Given the description of an element on the screen output the (x, y) to click on. 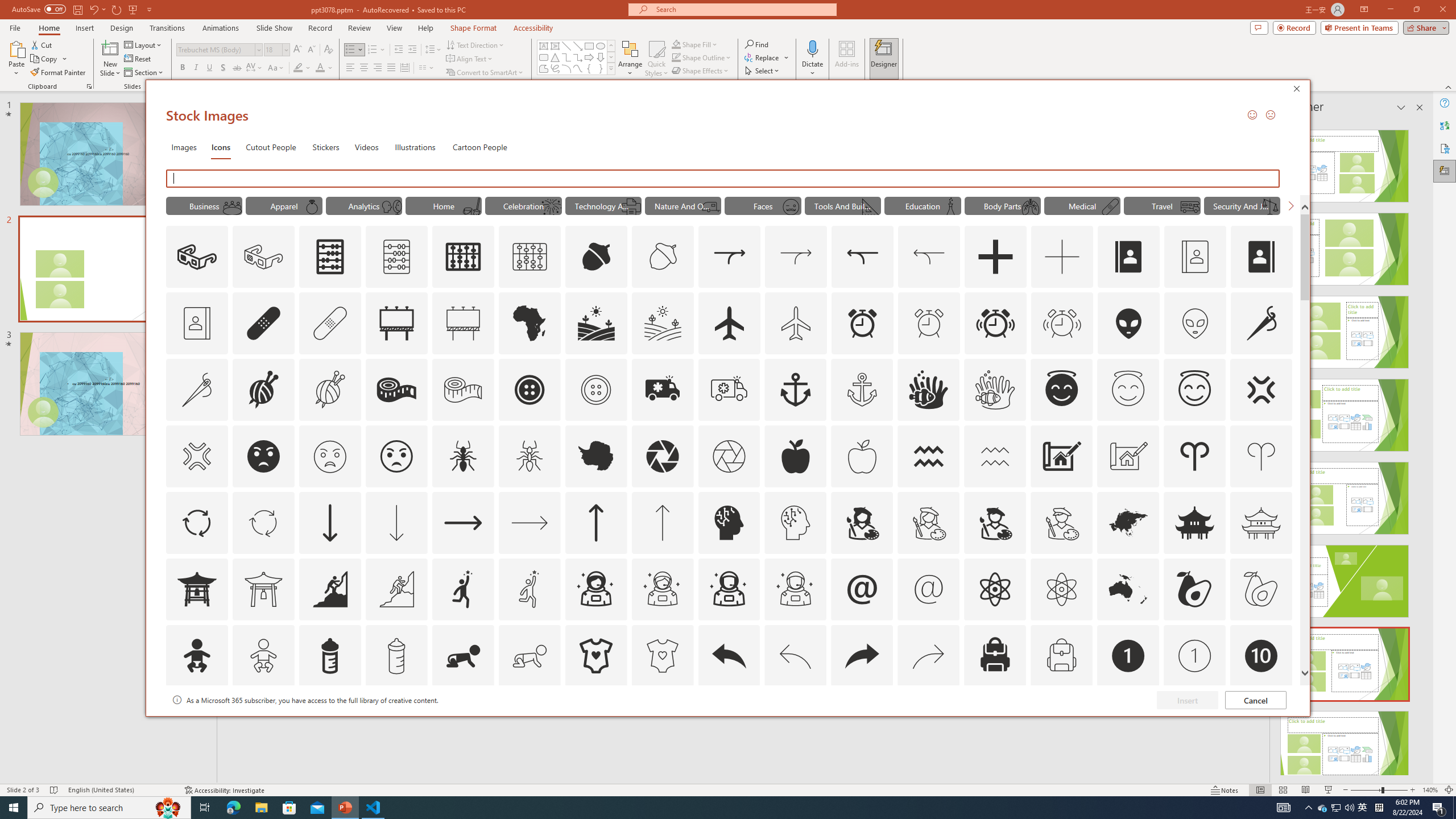
Underline (209, 67)
AutomationID: Icons_Agriculture_M (663, 323)
AutomationID: Icons_ArtistFemale (861, 522)
AutomationID: Icons_Acquisition_LTR (729, 256)
AutomationID: Icons_BabyOnesie (595, 655)
Illustrations (415, 146)
AutomationID: Icons_AlienFace_M (1194, 323)
AutomationID: Icons_ArrowDown_M (395, 522)
